Given the description of an element on the screen output the (x, y) to click on. 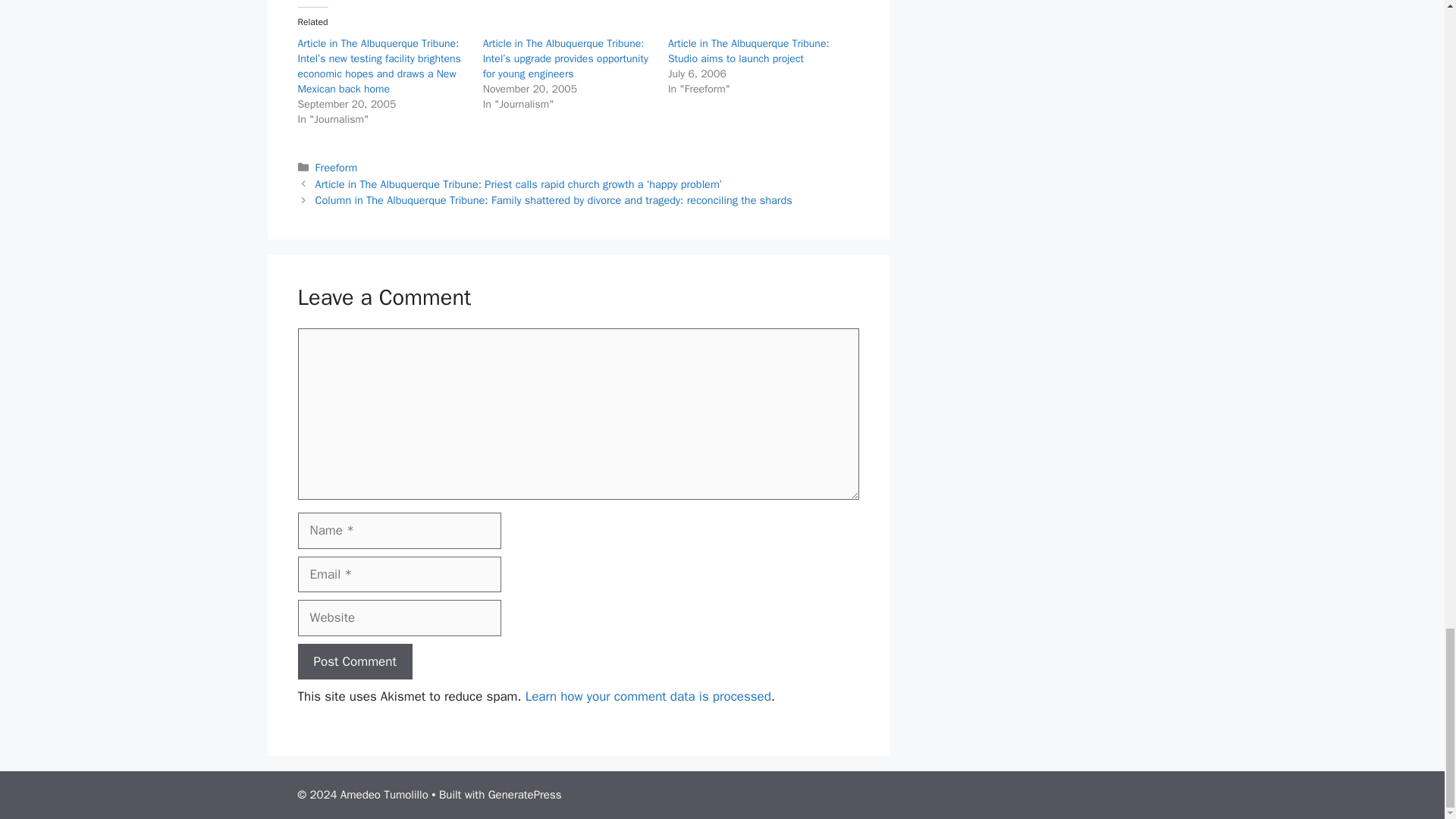
Post Comment (354, 661)
Learn how your comment data is processed (648, 696)
Post Comment (354, 661)
Freeform (336, 167)
GeneratePress (524, 794)
